Given the description of an element on the screen output the (x, y) to click on. 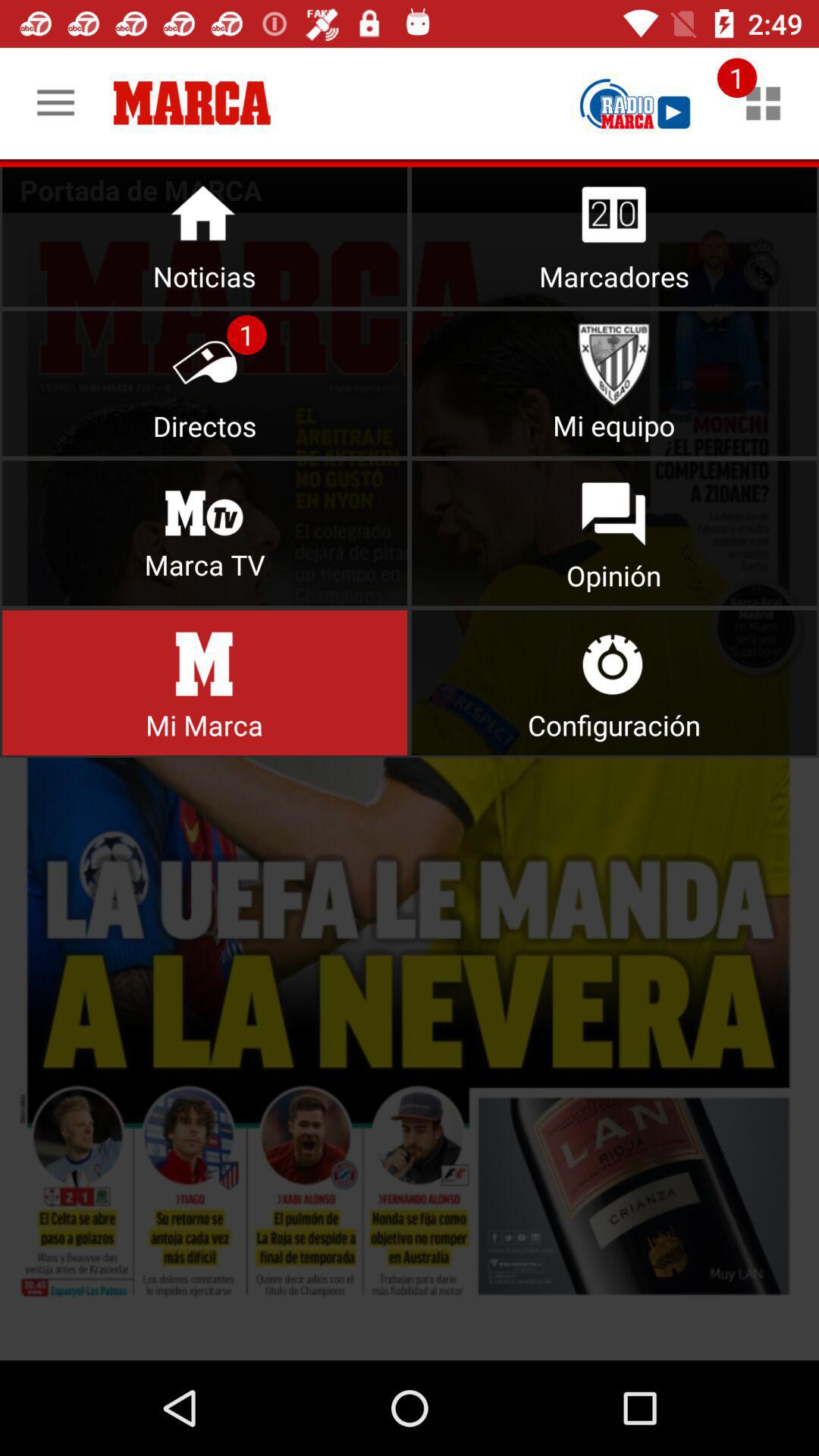
tap the item below portada de marca (409, 786)
